Given the description of an element on the screen output the (x, y) to click on. 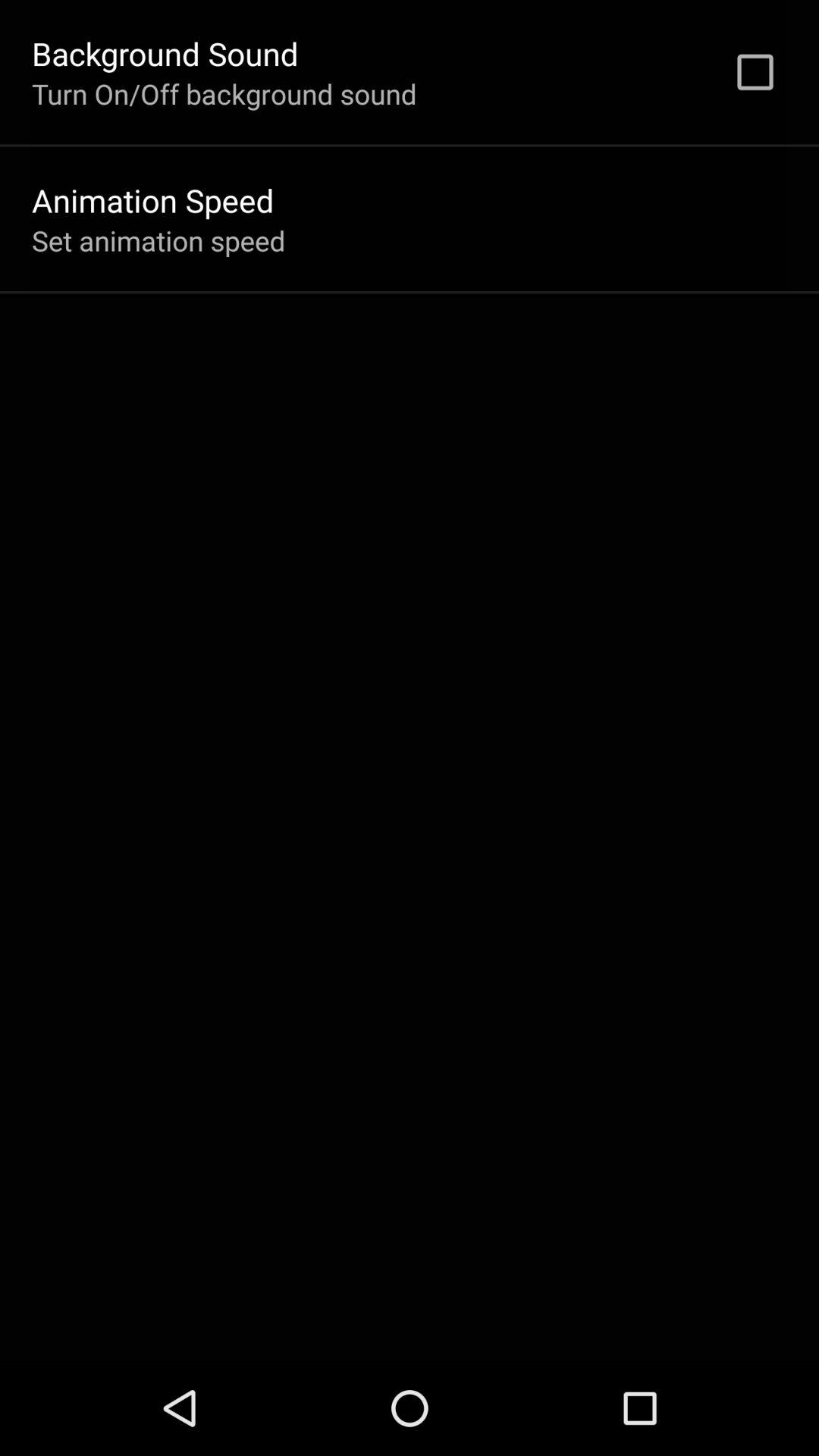
choose app next to turn on off item (755, 72)
